Given the description of an element on the screen output the (x, y) to click on. 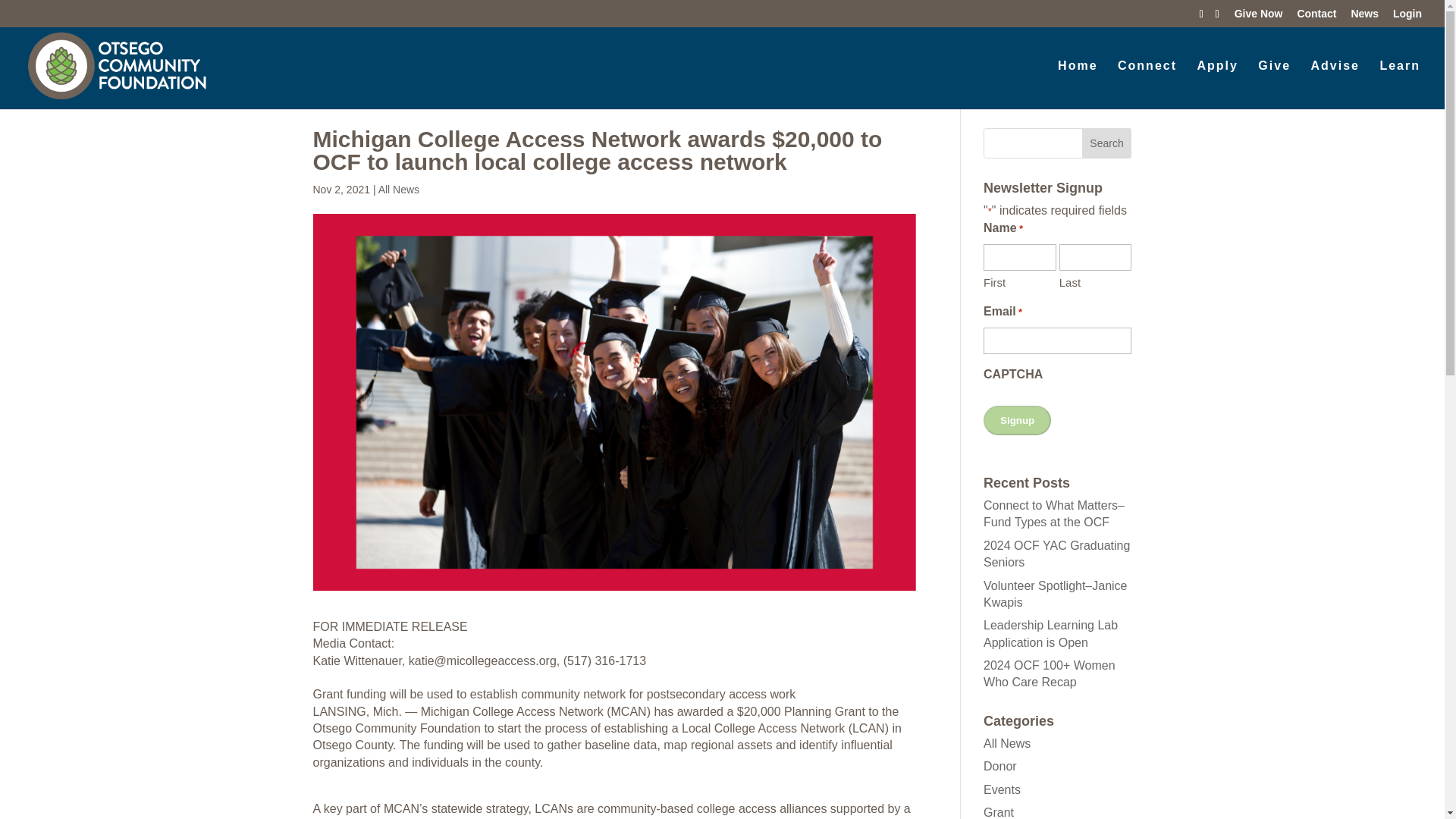
Contact (1316, 16)
Signup (1017, 419)
Search (1106, 142)
Signup (1017, 419)
News (1364, 16)
Give Now (1258, 16)
Events (1002, 789)
All News (1007, 743)
Connect (1147, 78)
Grant (998, 812)
All News (398, 189)
Donor (1000, 766)
2024 OCF YAC Graduating Seniors (1056, 553)
Login (1407, 16)
Leadership Learning Lab Application is Open (1051, 633)
